Given the description of an element on the screen output the (x, y) to click on. 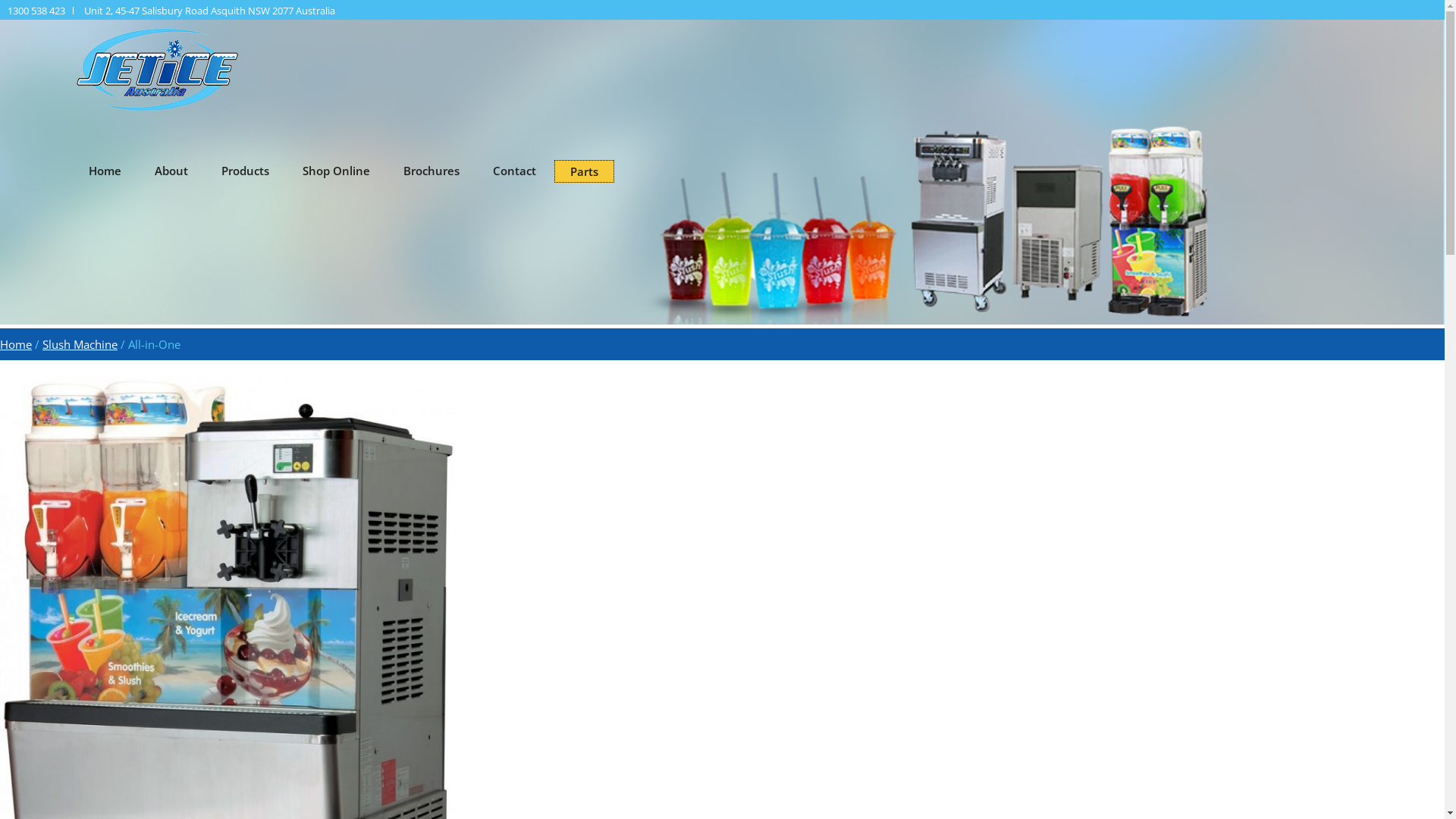
Brochures Element type: text (431, 170)
Products Element type: text (245, 170)
1300 538 423 Element type: text (36, 10)
About Element type: text (171, 170)
Shop Online Element type: text (336, 170)
Parts Element type: text (584, 171)
Home Element type: text (15, 343)
Slush Machine Element type: text (79, 343)
Home Element type: text (104, 170)
Contact Element type: text (514, 170)
